Given the description of an element on the screen output the (x, y) to click on. 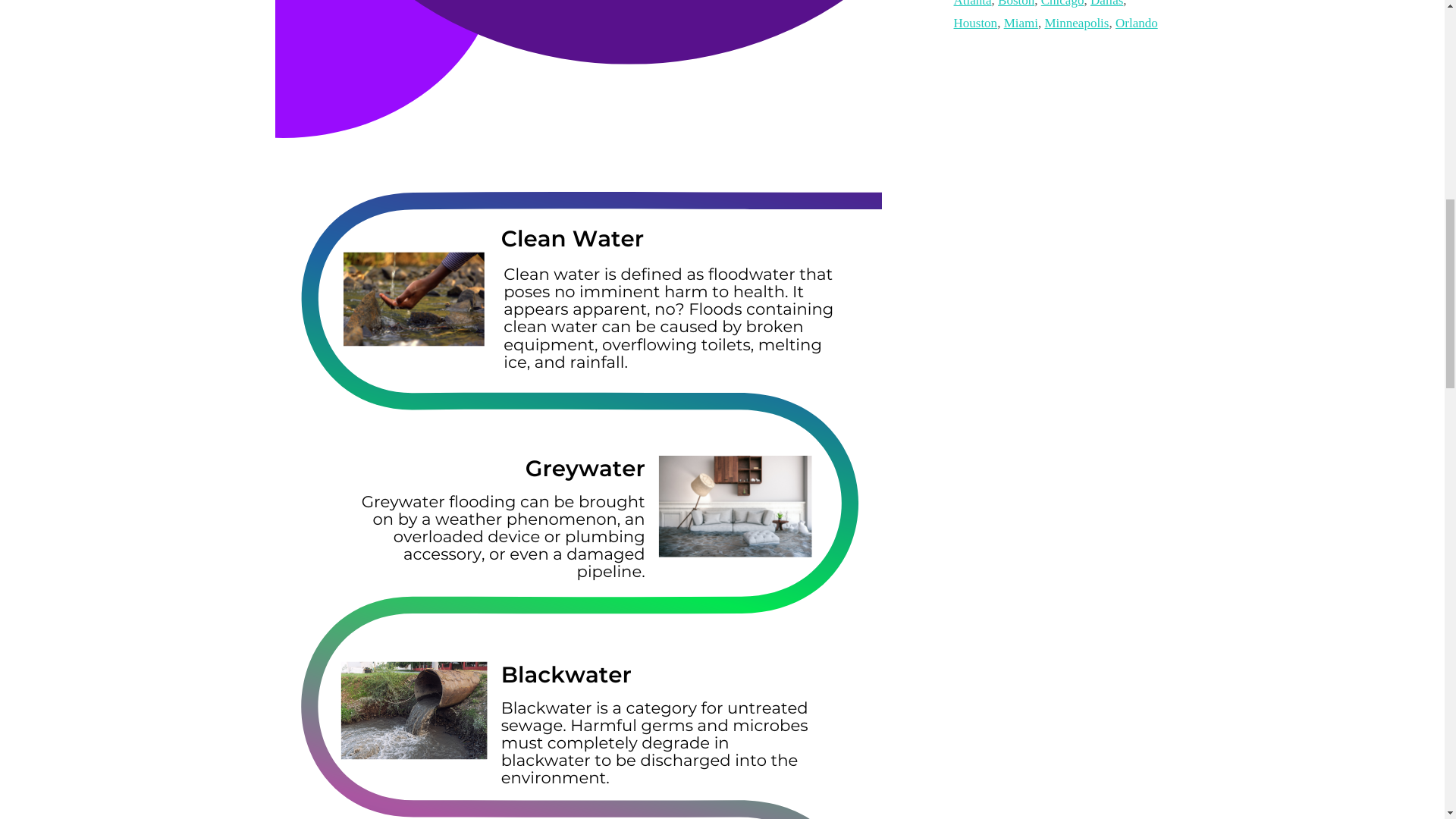
Atlanta (972, 4)
Dallas (1106, 4)
Minneapolis (1075, 23)
Miami (1021, 23)
Chicago (1062, 4)
Houston (975, 23)
Boston (1015, 4)
Orlando (1136, 23)
